Given the description of an element on the screen output the (x, y) to click on. 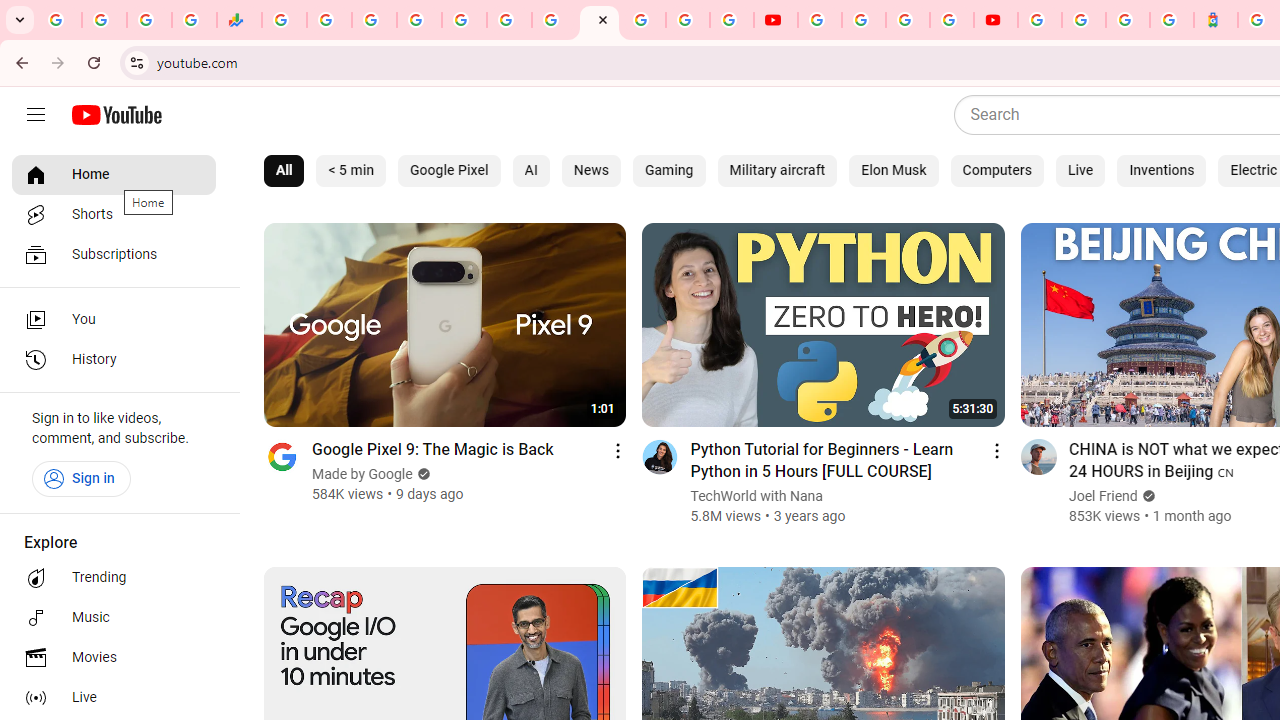
Privacy Checkup (731, 20)
Movies (113, 657)
Inventions (1162, 170)
All (283, 170)
Music (113, 617)
History (113, 359)
YouTube (775, 20)
YouTube Home (116, 115)
Guide (35, 115)
